Given the description of an element on the screen output the (x, y) to click on. 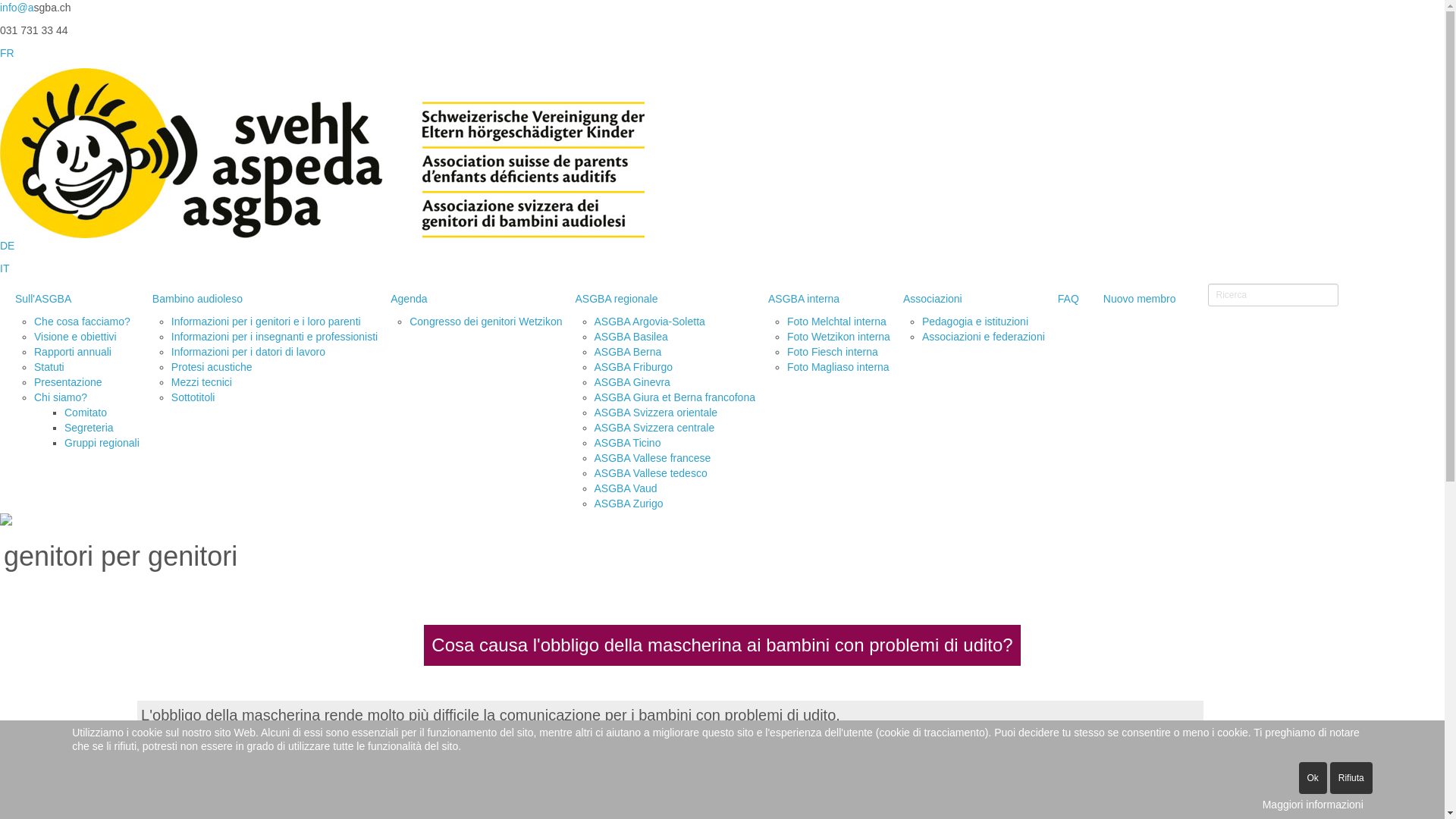
Associazioni e federazioni Element type: text (983, 336)
Presentazione Element type: text (68, 382)
ASGBA Friburgo Element type: text (633, 366)
ASGBA Vallese tedesco Element type: text (650, 473)
ASGBA regionale Element type: text (659, 298)
ASGBA Ticino Element type: text (627, 442)
Foto Magliaso interna Element type: text (838, 366)
Mezzi tecnici Element type: text (201, 382)
FR Element type: text (7, 53)
ASGBA interna Element type: text (823, 298)
ASGBA Basilea Element type: text (631, 336)
Informazioni per i datori di lavoro Element type: text (248, 351)
Informazioni per i genitori e i loro parenti Element type: text (265, 321)
Foto Wetzikon interna Element type: text (838, 336)
ASGBA Vaud Element type: text (625, 488)
Rapporti annuali Element type: text (72, 351)
ASGBA Ginevra Element type: text (632, 382)
Ok Element type: text (1312, 777)
ASGBA Svizzera orientale Element type: text (656, 412)
Rifiuta Element type: text (1351, 777)
Protesi acustiche Element type: text (211, 366)
ASGBA Giura et Berna francofona Element type: text (674, 397)
Che cosa facciamo? Element type: text (82, 321)
ASGBA Zurigo Element type: text (628, 503)
Informazioni per i insegnanti e professionisti Element type: text (274, 336)
Congresso dei genitori Wetzikon Element type: text (485, 321)
Visione e obiettivi Element type: text (75, 336)
info@a Element type: text (17, 7)
Pedagogia e istituzioni Element type: text (975, 321)
ASGBA Svizzera centrale Element type: text (654, 427)
Nuovo membro Element type: text (1139, 298)
Foto Fiesch interna Element type: text (832, 351)
DE    Element type: text (11, 245)
Bambino audioleso Element type: text (259, 298)
Sottotitoli Element type: text (193, 397)
Statuti Element type: text (49, 366)
ASGBA Argovia-Soletta Element type: text (649, 321)
Foto Melchtal interna Element type: text (836, 321)
IT Element type: text (4, 268)
Chi siamo? Element type: text (60, 397)
Associazioni Element type: text (967, 298)
ASGBA Berna Element type: text (628, 351)
Gruppi regionali Element type: text (101, 442)
Maggiori informazioni Element type: text (1312, 804)
FAQ Element type: text (1068, 298)
Comitato Element type: text (85, 412)
Agenda Element type: text (470, 298)
Sull'ASGBA Element type: text (71, 298)
ASGBA Vallese francese Element type: text (652, 457)
Segreteria Element type: text (88, 427)
